Given the description of an element on the screen output the (x, y) to click on. 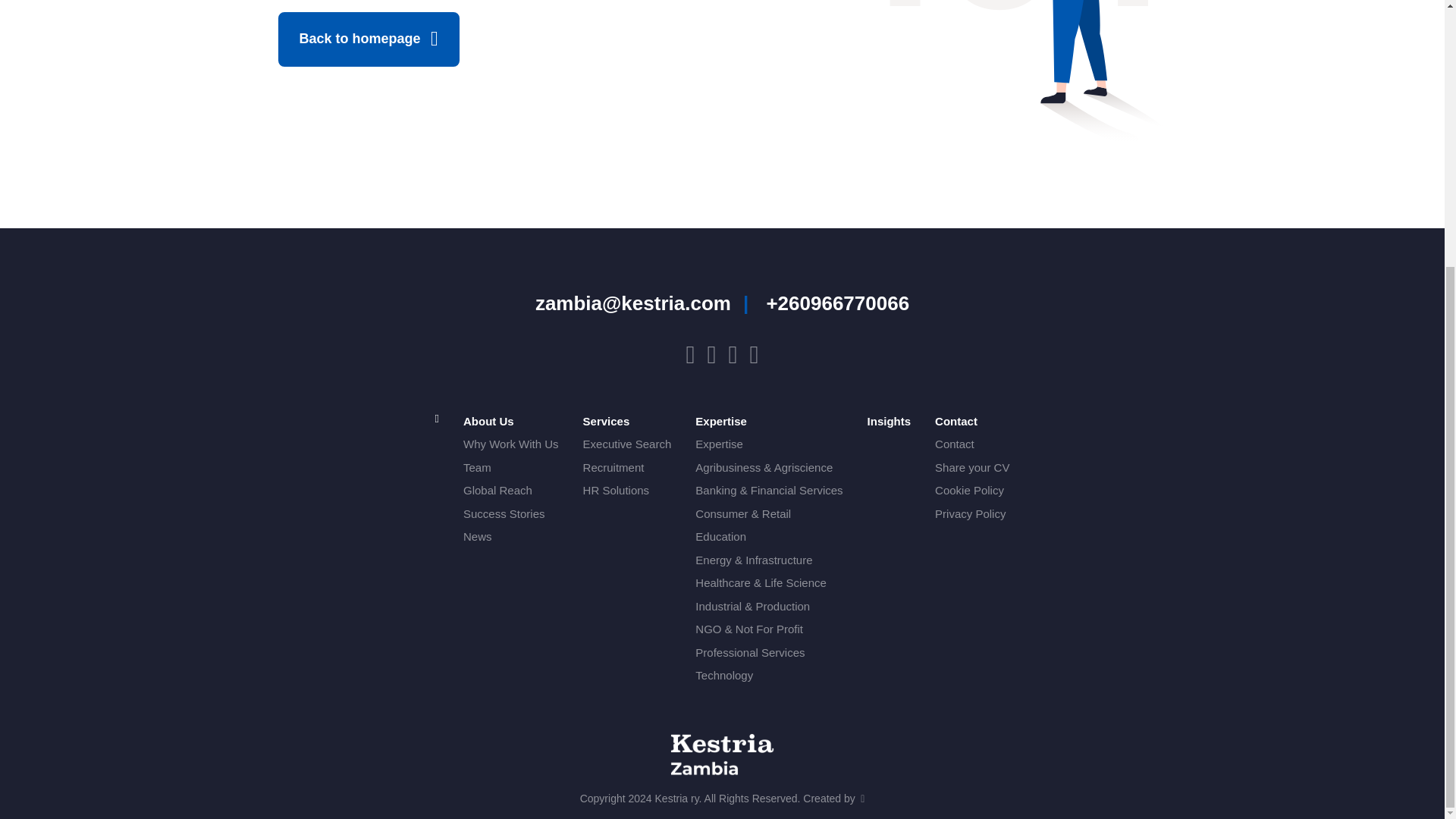
Back to homepage (368, 39)
Global Reach (511, 490)
About Us (511, 422)
Kestria Zambia (721, 754)
Why Work With Us (511, 444)
Team (511, 467)
